Given the description of an element on the screen output the (x, y) to click on. 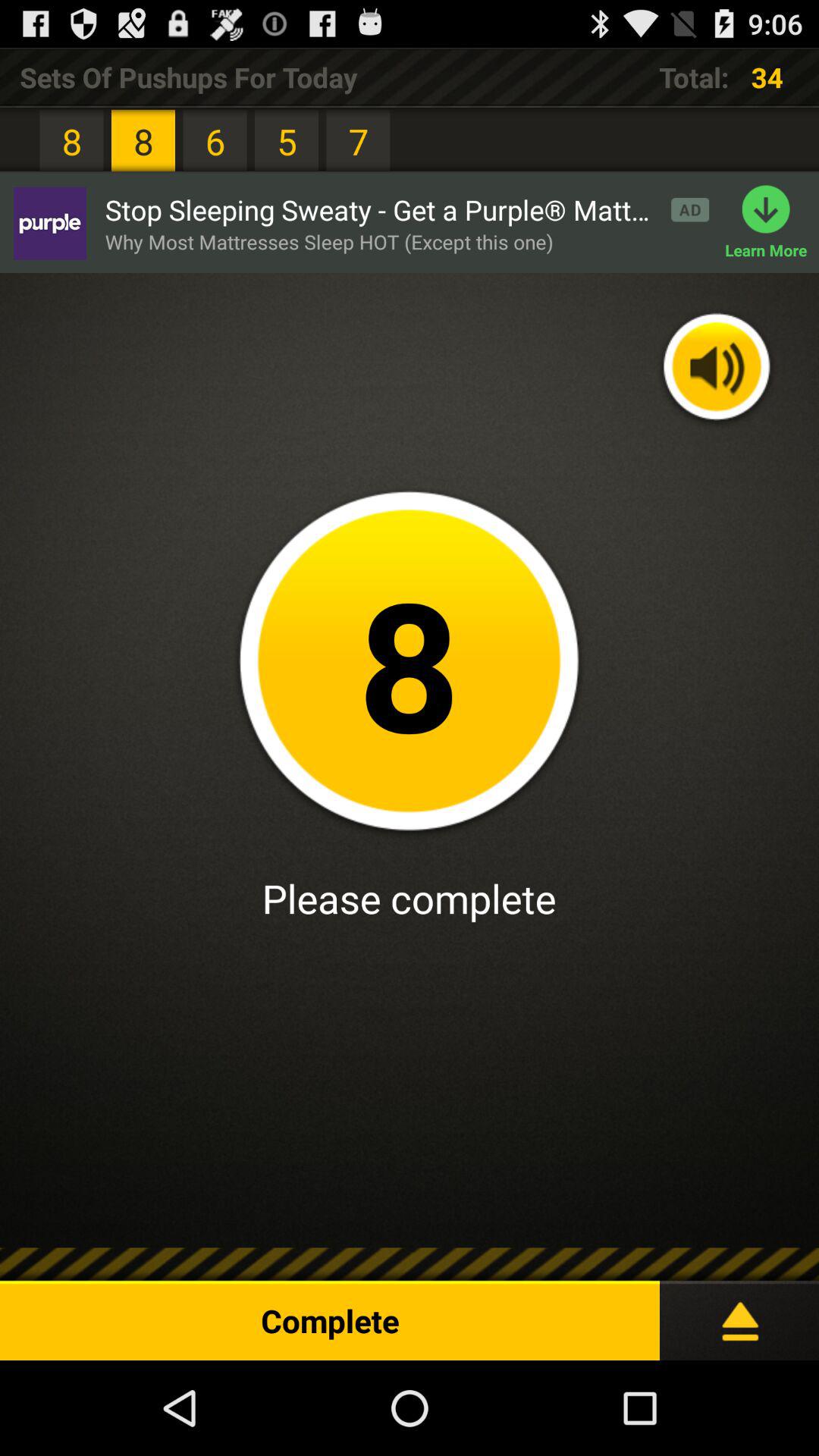
click the icon at the bottom right corner (739, 1314)
